Given the description of an element on the screen output the (x, y) to click on. 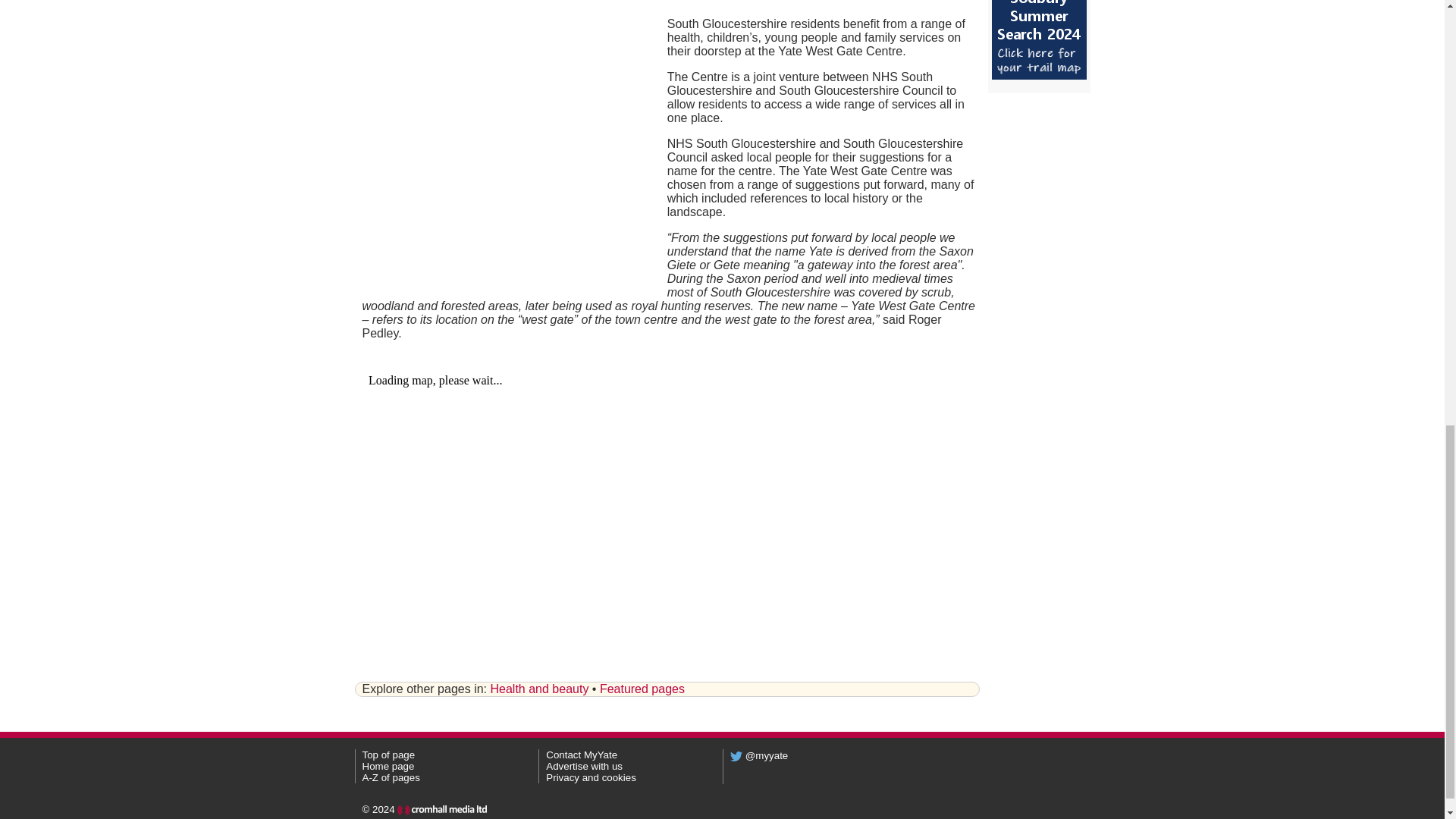
Privacy and cookies (591, 777)
A-Z of pages (391, 777)
Health and beauty (538, 688)
Featured pages (641, 688)
Advertise with us (584, 766)
Contact MyYate (581, 754)
Top of page (388, 754)
Home page (388, 766)
